Given the description of an element on the screen output the (x, y) to click on. 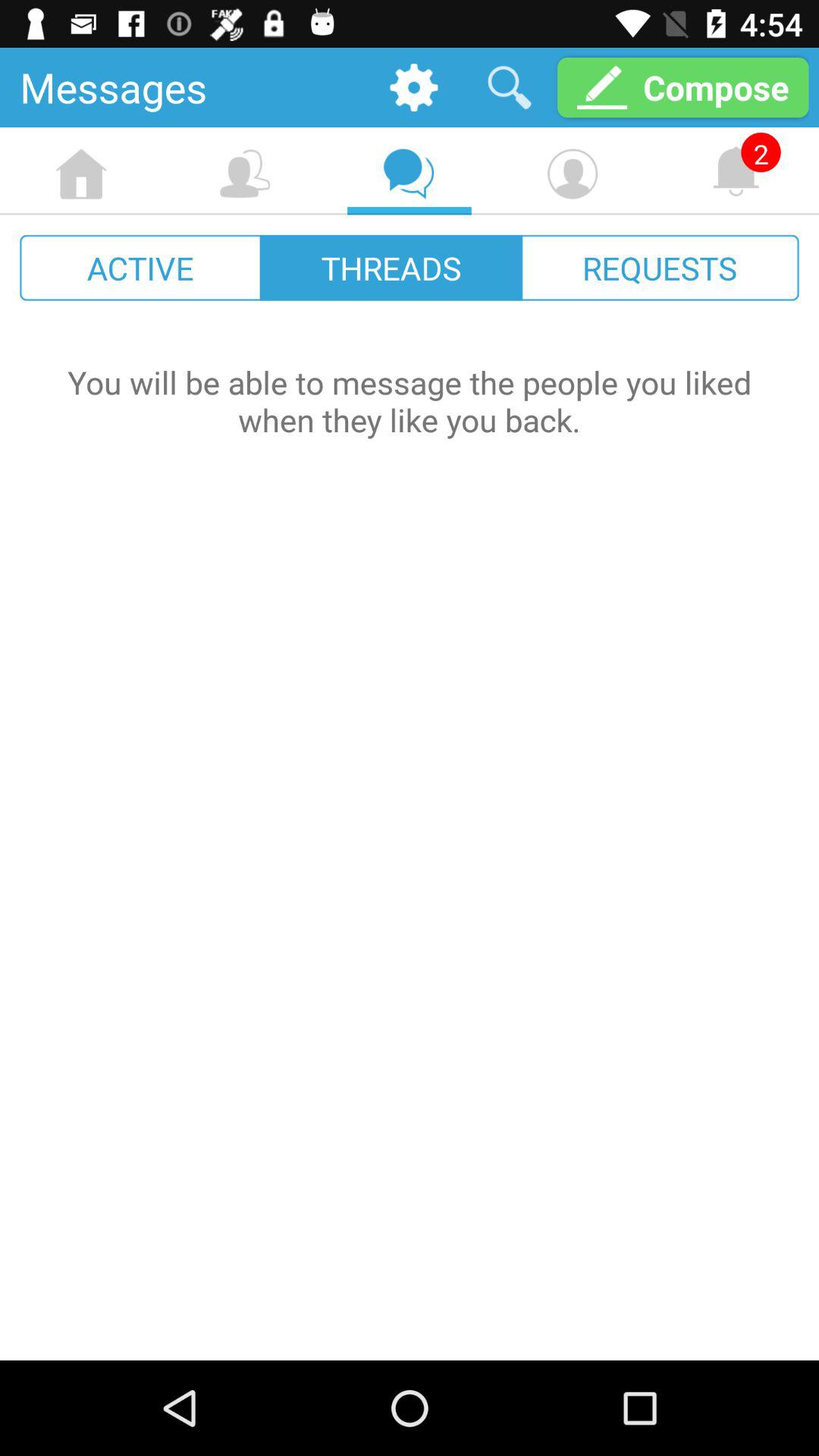
launch item above the you will be icon (390, 267)
